Given the description of an element on the screen output the (x, y) to click on. 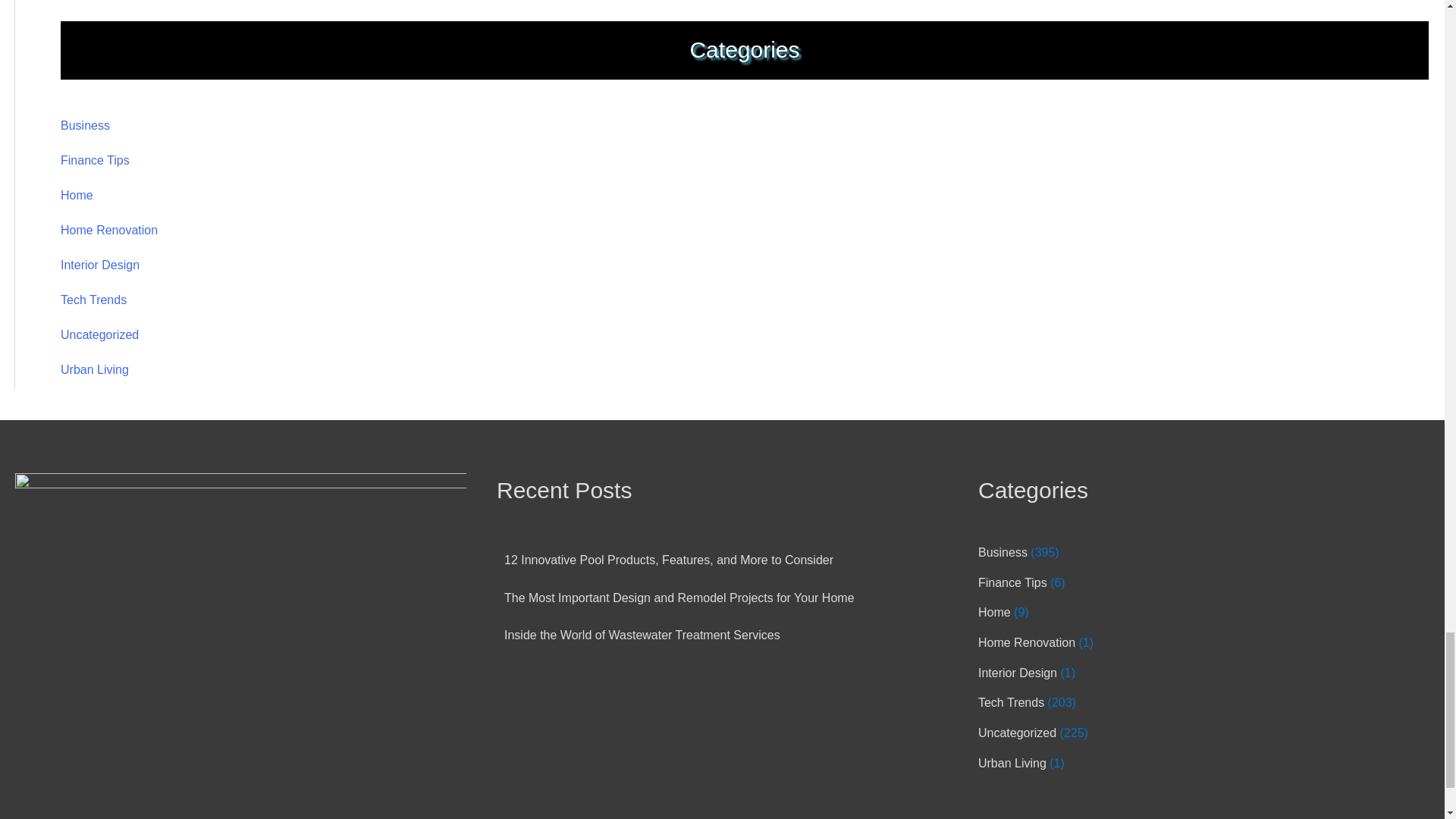
Home (77, 195)
The Most Important Design and Remodel Projects for Your Home (678, 597)
Home (994, 612)
Tech Trends (93, 299)
Home Renovation (1026, 642)
Business (1002, 552)
Interior Design (100, 264)
Inside the World of Wastewater Treatment Services (641, 634)
Urban Living (95, 369)
12 Innovative Pool Products, Features, and More to Consider (667, 559)
